Given the description of an element on the screen output the (x, y) to click on. 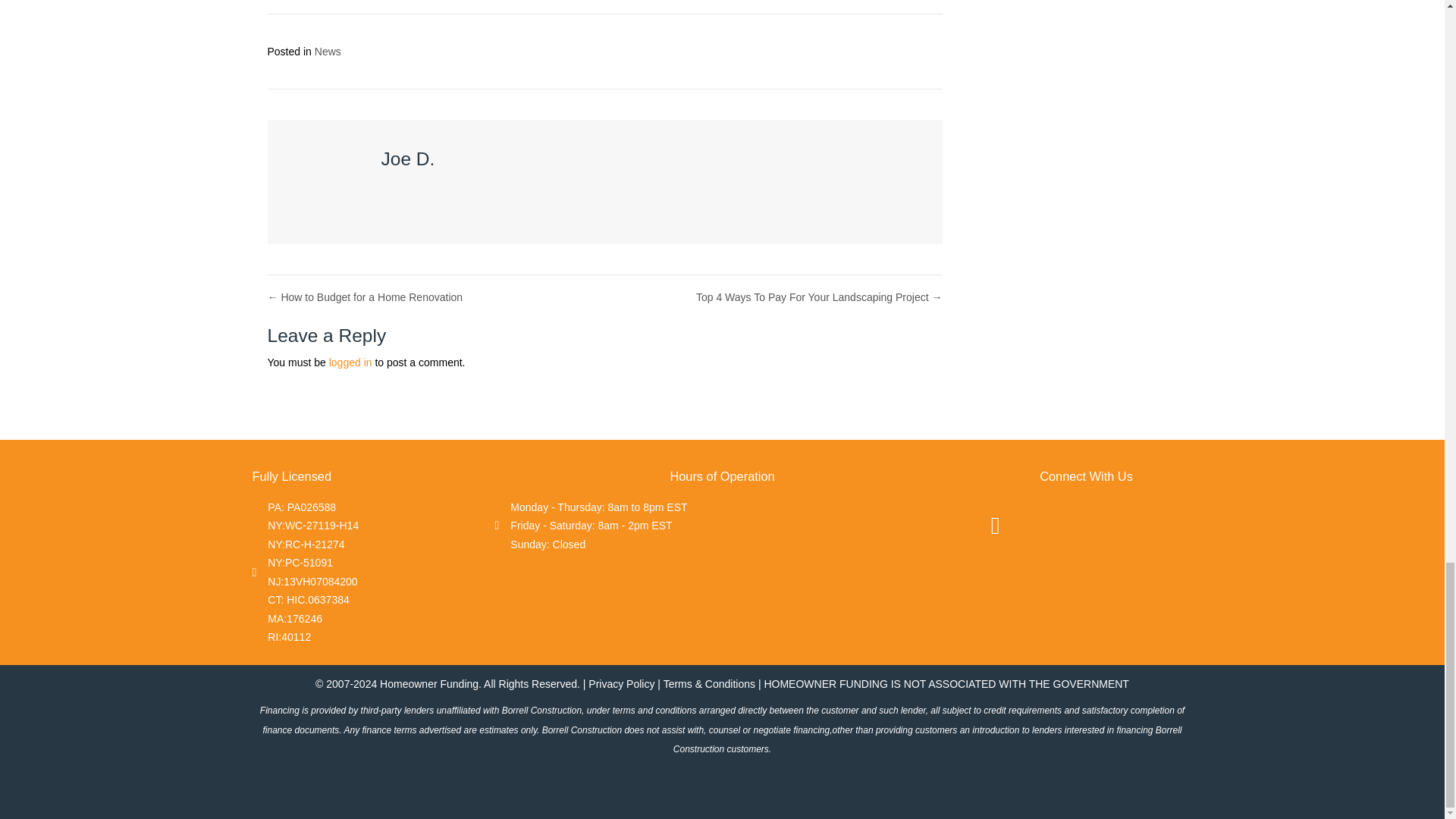
guild-quality-icon (1116, 522)
